Given the description of an element on the screen output the (x, y) to click on. 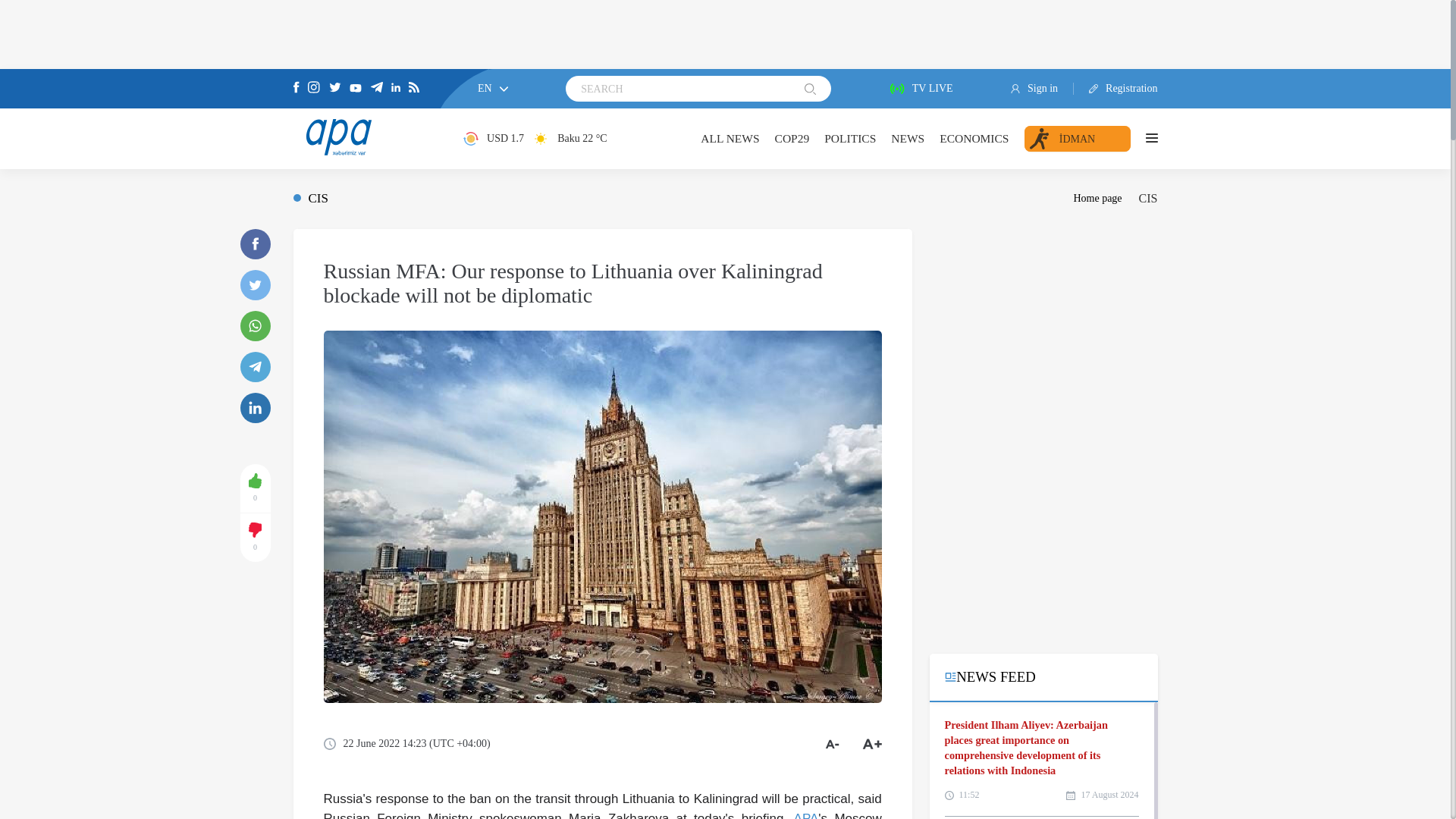
NEWS (907, 138)
ALL NEWS (729, 138)
COP29 (791, 138)
Sign in (1042, 88)
USD 1.7 (493, 138)
TV LIVE (921, 88)
POLITICS (850, 138)
ECONOMICS (974, 138)
Registration (1115, 88)
